Given the description of an element on the screen output the (x, y) to click on. 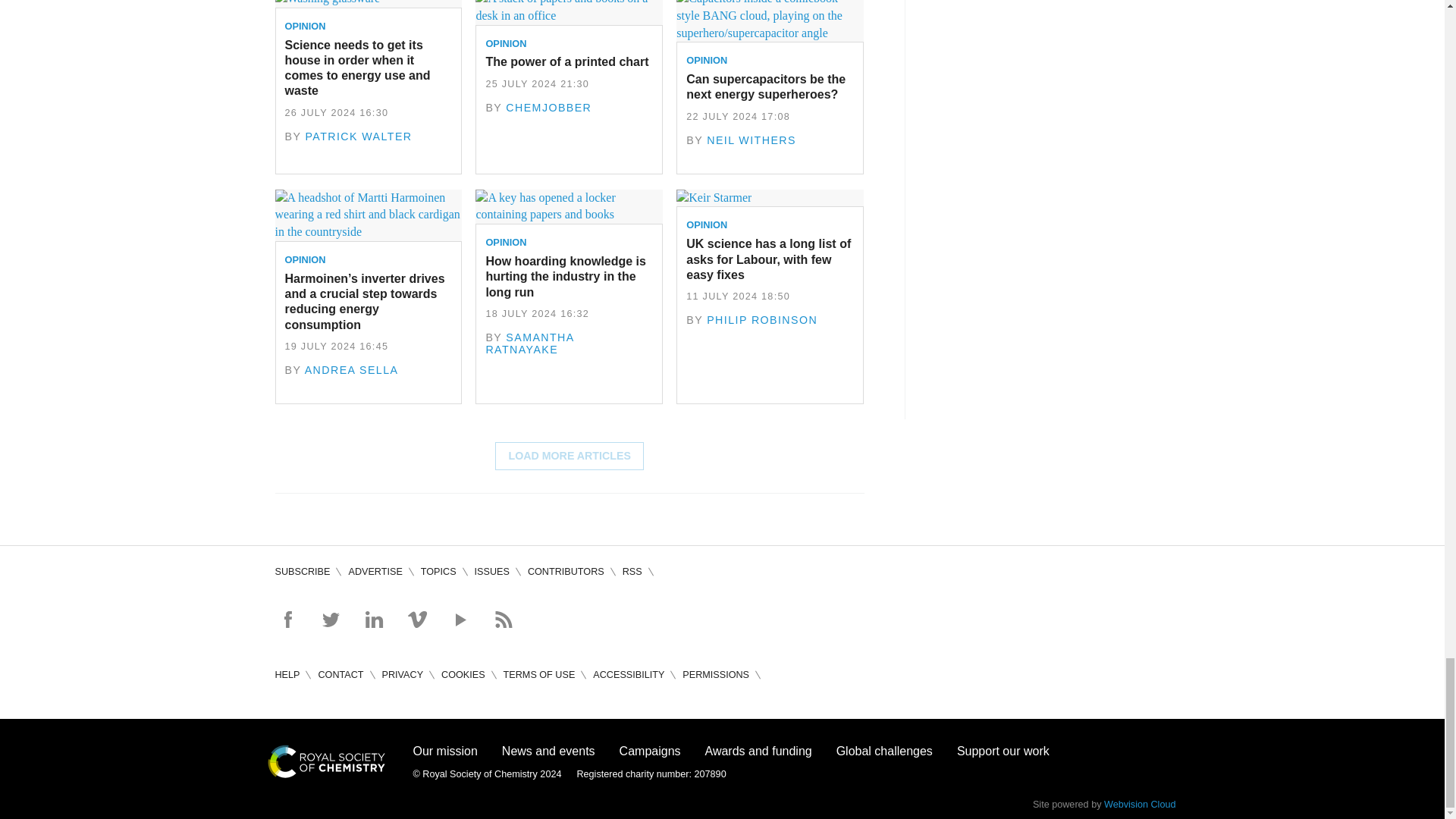
Watch on Vimeo (416, 619)
Connect on Linked in (373, 619)
Follow on Twitter (330, 619)
Follow on Facebook (287, 619)
